Given the description of an element on the screen output the (x, y) to click on. 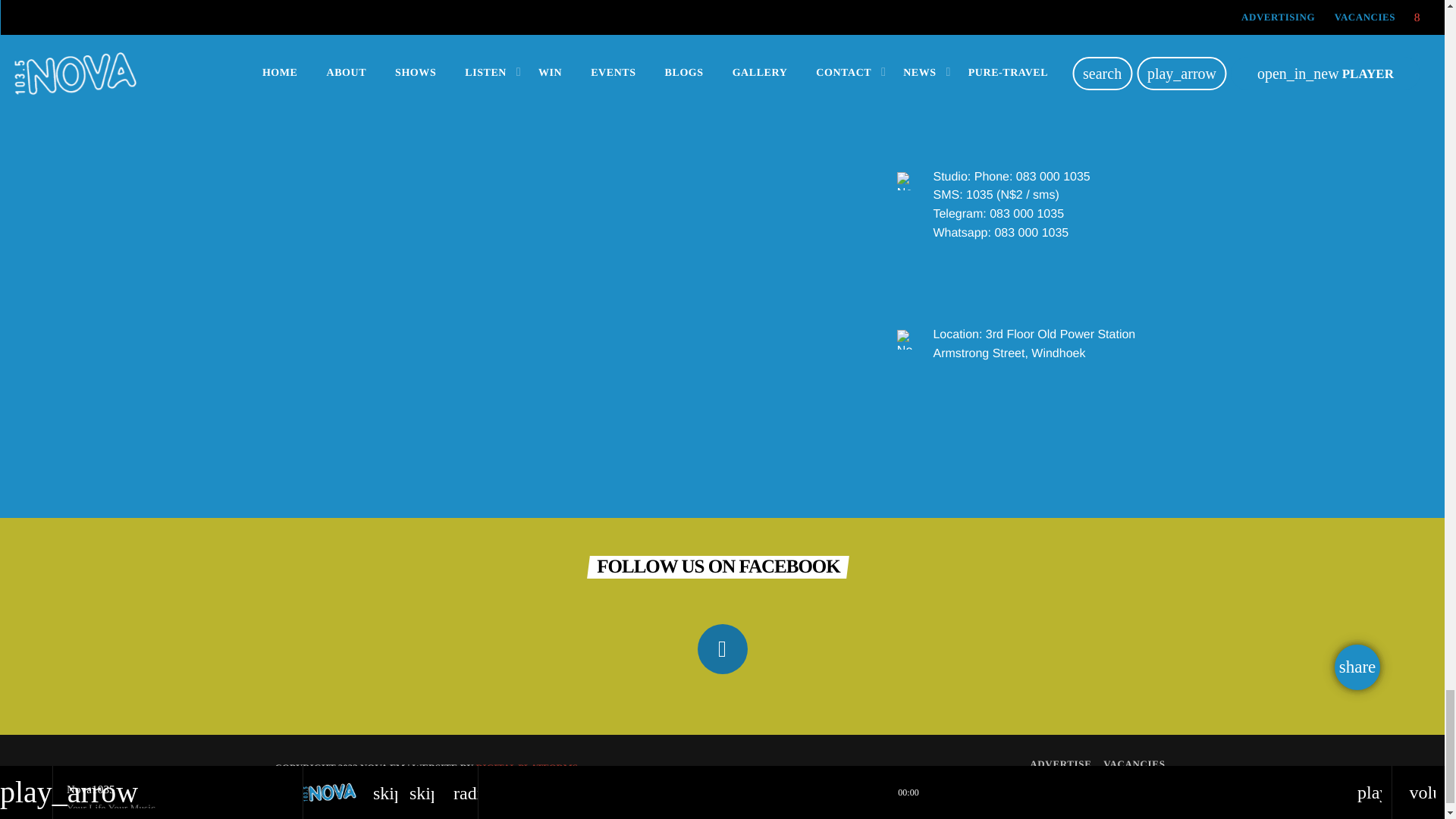
Website by Digital Platforms (526, 767)
